Given the description of an element on the screen output the (x, y) to click on. 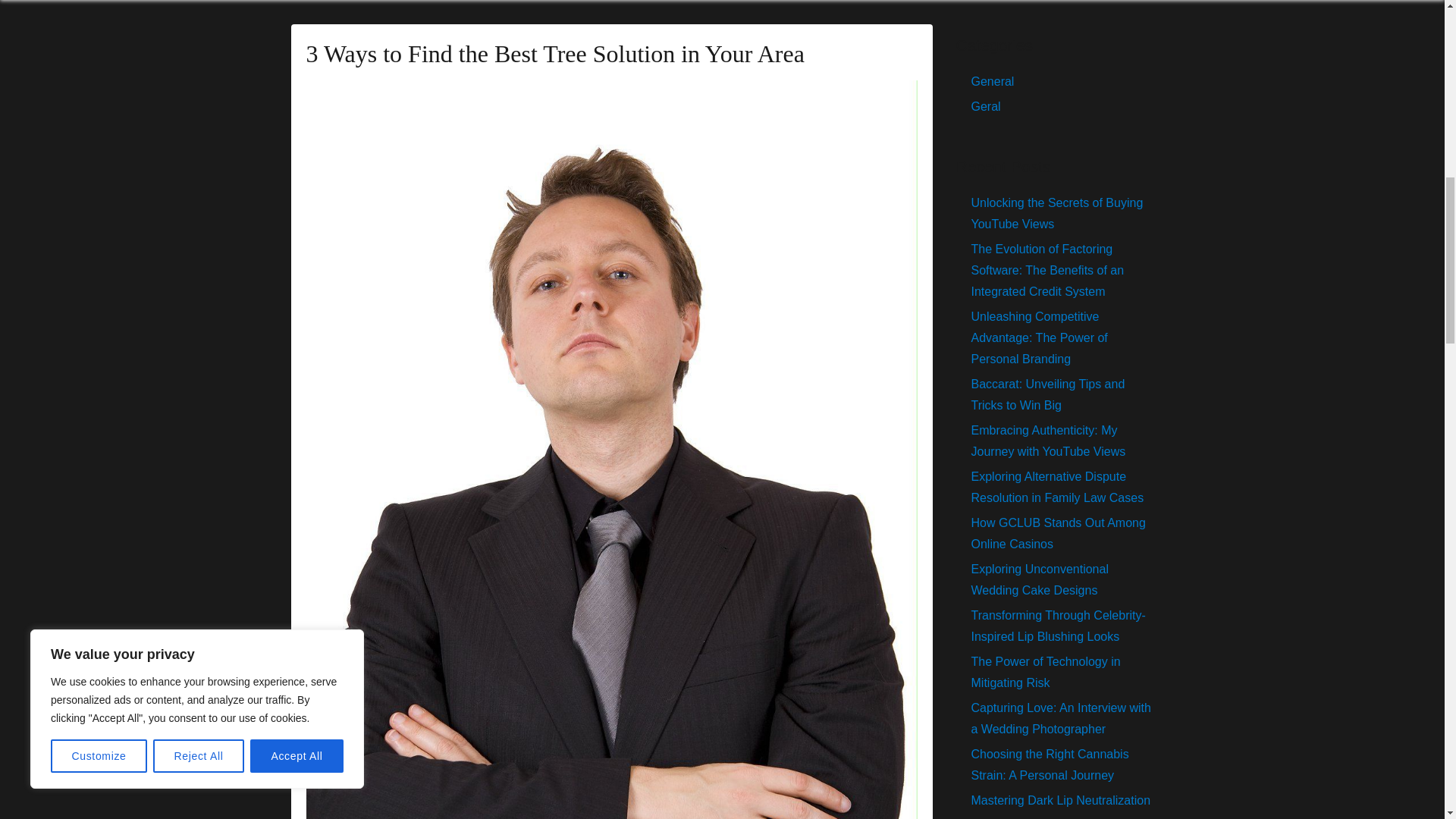
Geral (985, 106)
Unlocking the Secrets of Buying YouTube Views (1056, 213)
General (992, 81)
